Given the description of an element on the screen output the (x, y) to click on. 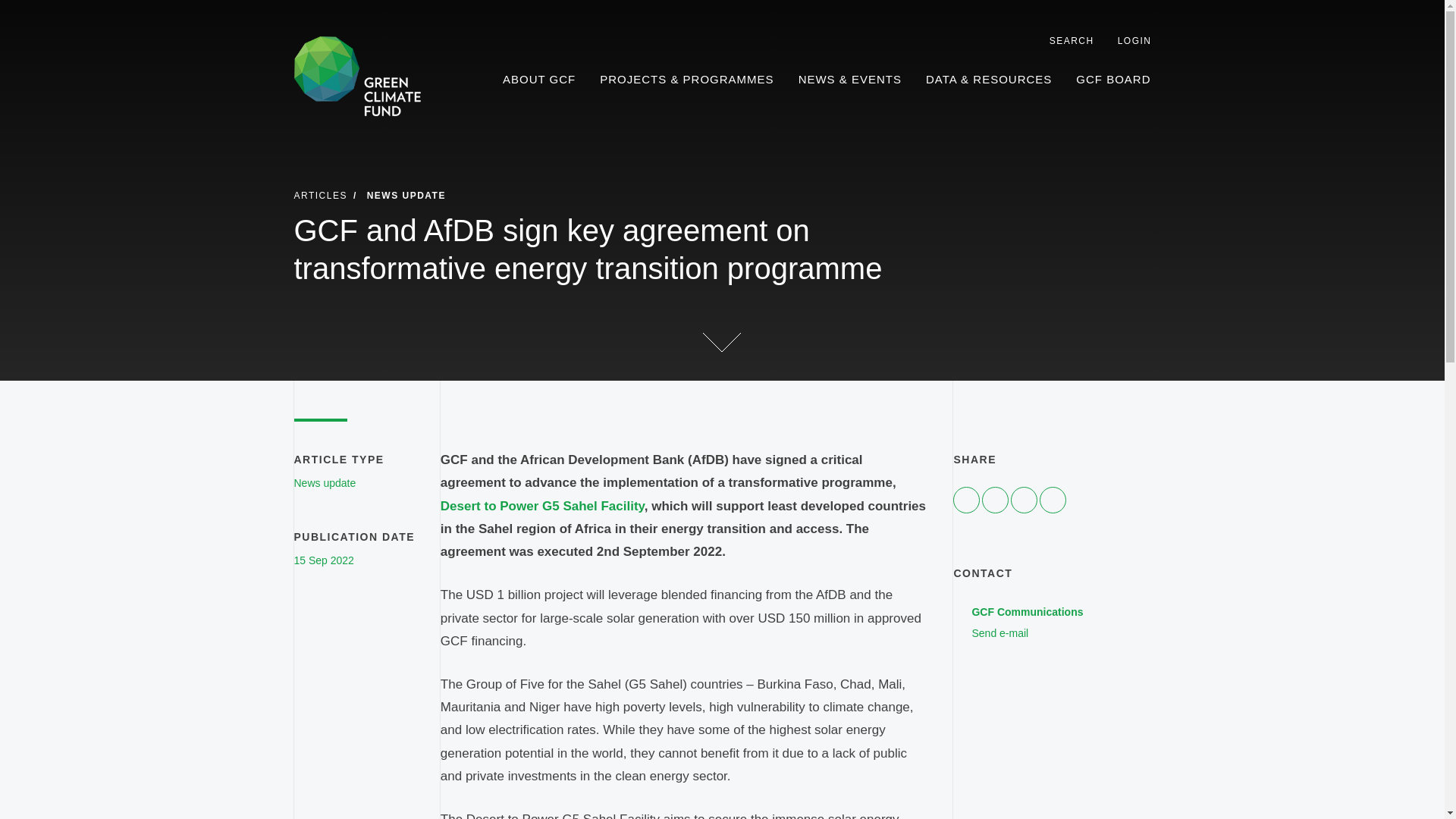
SEARCH (539, 79)
Share on Twitter (1064, 41)
Share on Facebook (995, 499)
Share on LinkedIn (966, 499)
LOGIN (1023, 499)
Print (1127, 41)
